Given the description of an element on the screen output the (x, y) to click on. 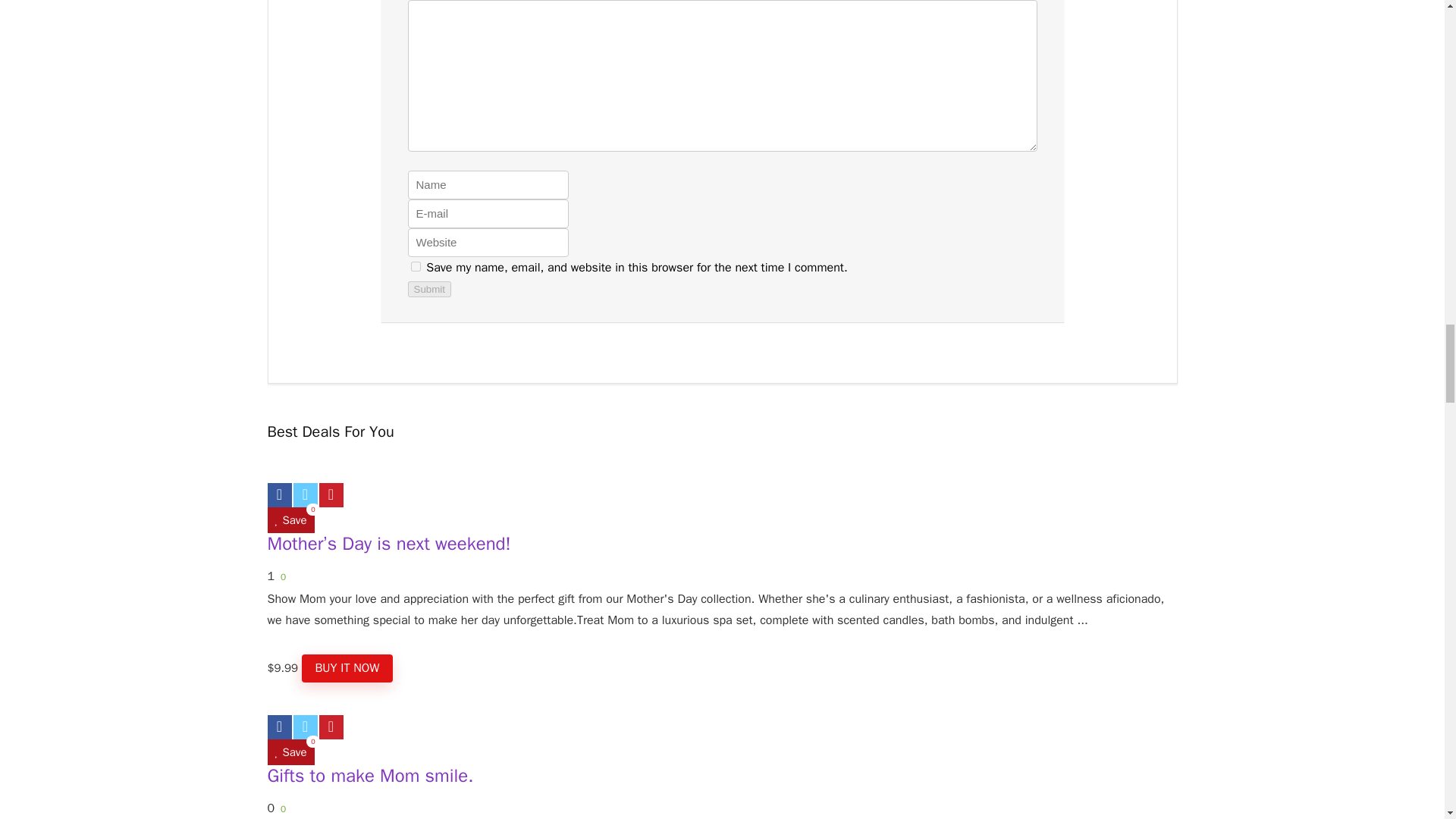
yes (415, 266)
Submit (429, 289)
